Given the description of an element on the screen output the (x, y) to click on. 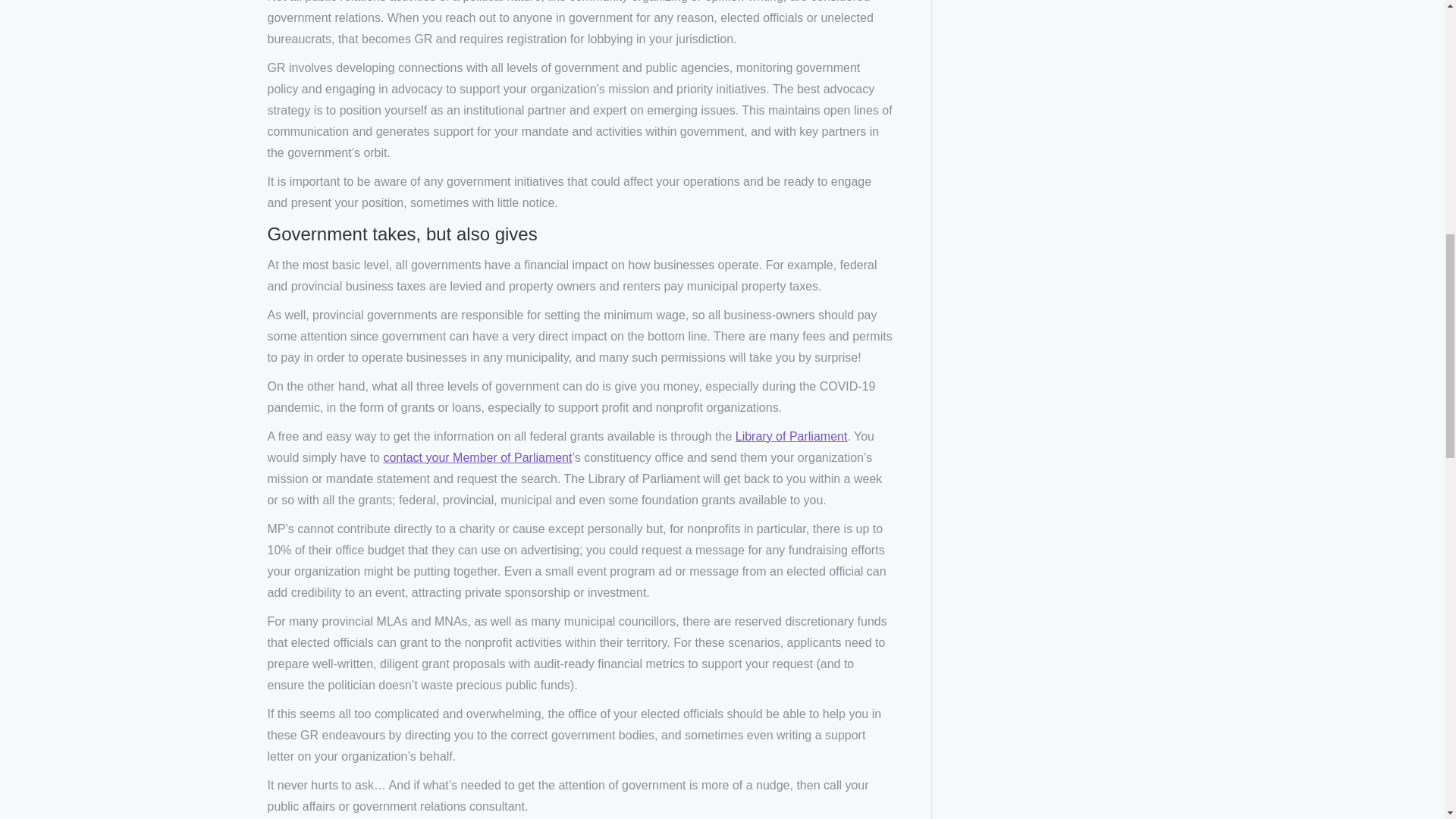
contact your Member of Parliament (477, 456)
Library of Parliament (791, 435)
